Given the description of an element on the screen output the (x, y) to click on. 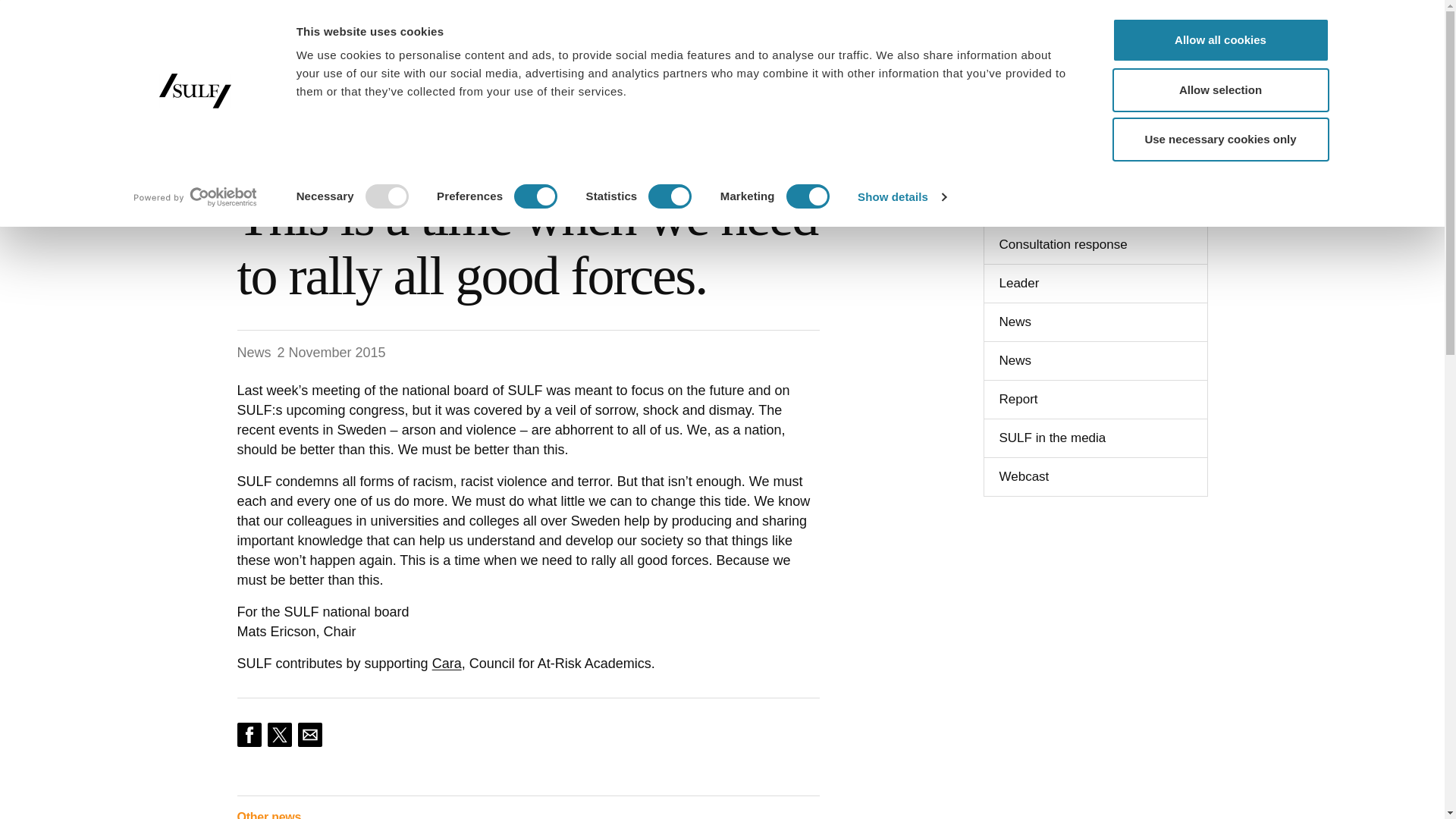
Elected (1079, 17)
Go to News. (377, 155)
Show details (900, 196)
Share on X (278, 734)
Share on Facebook (247, 734)
E-mail (309, 734)
Use necessary cookies only (1219, 139)
Go to News archive. (314, 155)
SULF (308, 62)
Go to SULF. (249, 155)
